Given the description of an element on the screen output the (x, y) to click on. 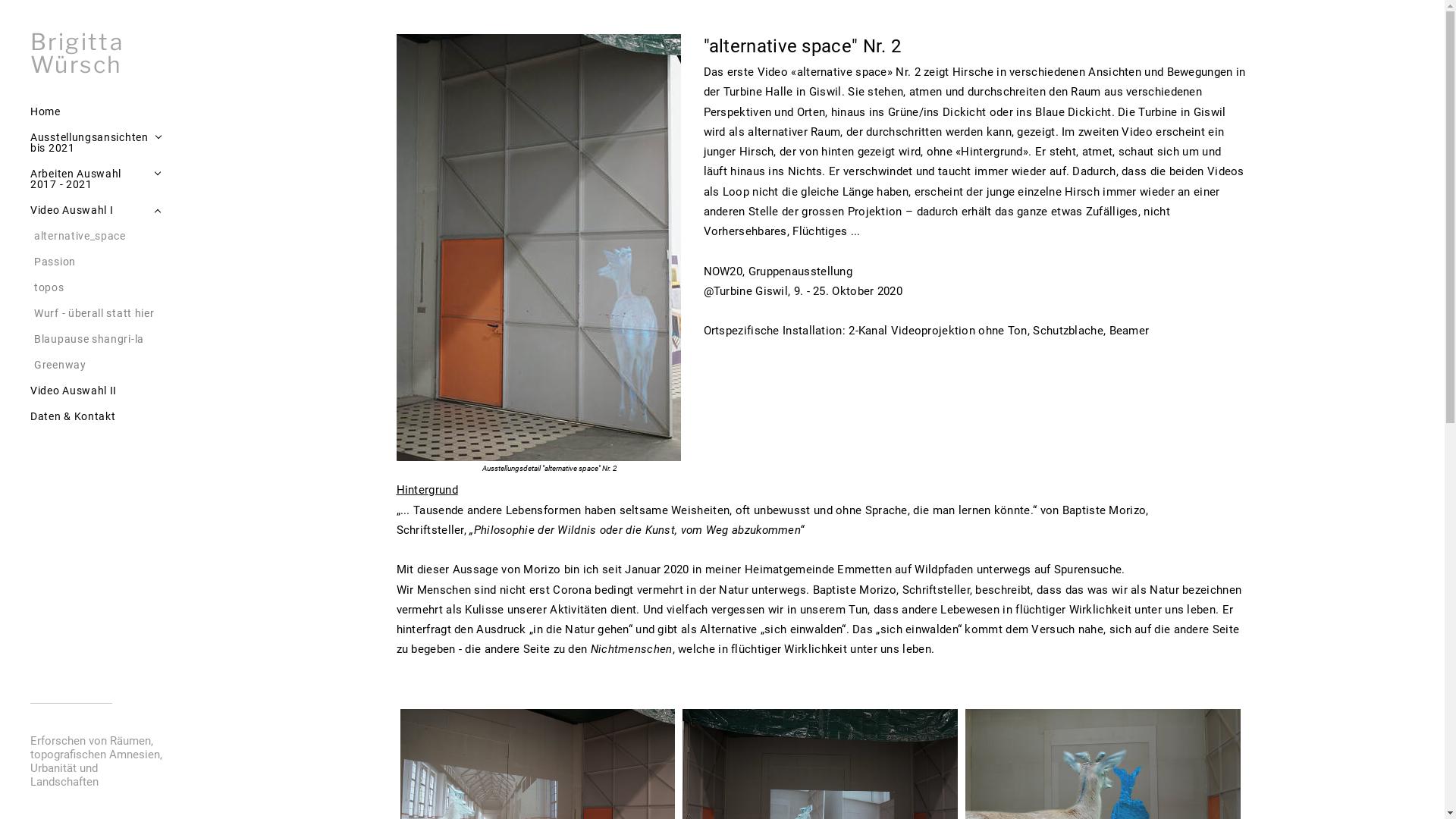
Arbeiten Auswahl 2017 - 2021 Element type: text (88, 178)
Ausstellungsansichten bis 2021 Element type: text (89, 142)
Home Element type: text (98, 111)
Video Auswahl II Element type: text (98, 390)
Blaupause shangri-la Element type: text (100, 338)
Video Auswahl I Element type: text (71, 209)
Daten & Kontakt Element type: text (98, 416)
alternative_space Element type: text (100, 235)
topos Element type: text (100, 287)
Greenway Element type: text (100, 364)
Passion Element type: text (100, 261)
